Given the description of an element on the screen output the (x, y) to click on. 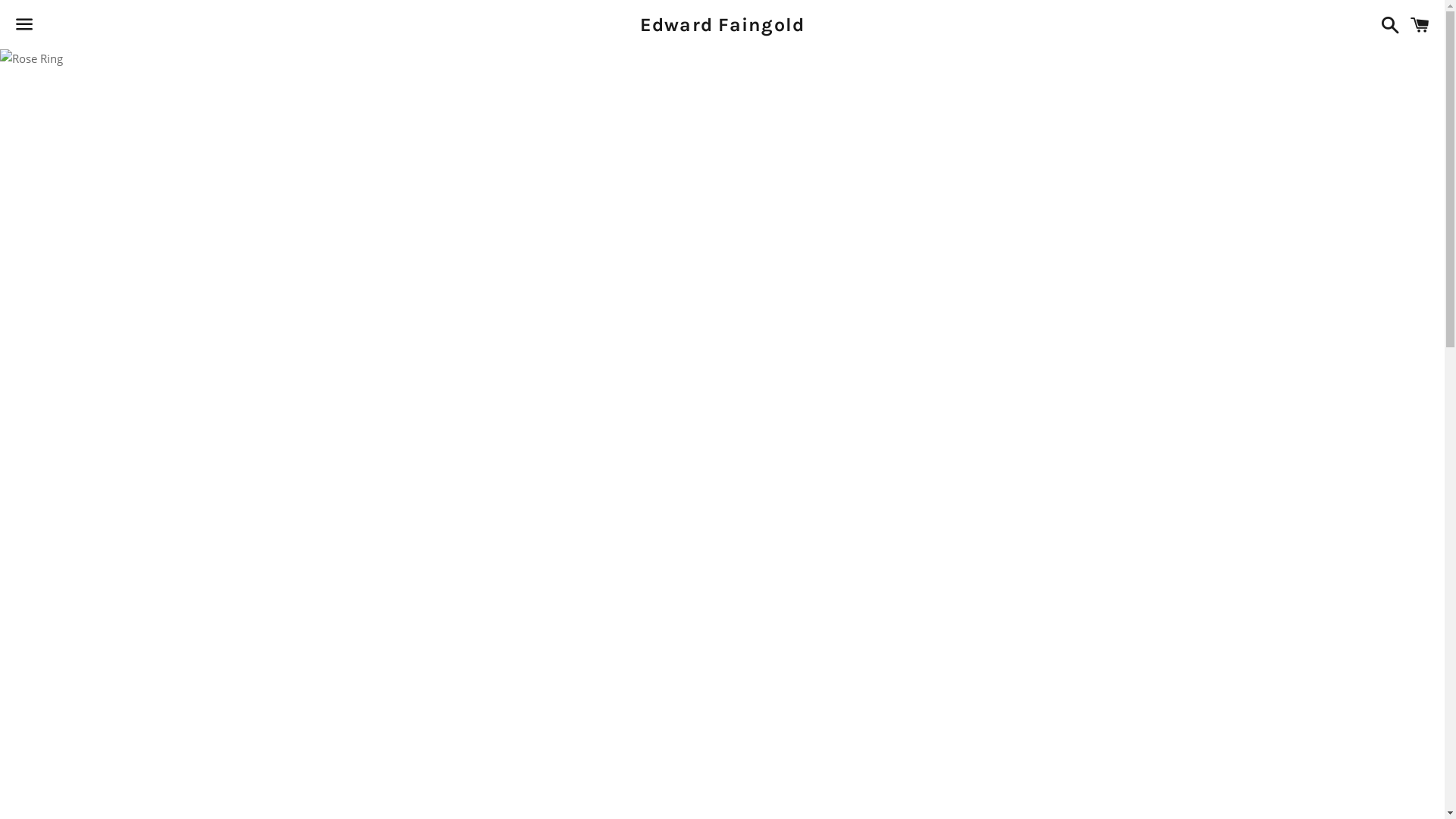
Edward Faingold Element type: text (721, 24)
Menu Element type: text (24, 24)
Cart Element type: text (1419, 24)
Search Element type: text (1386, 24)
